Given the description of an element on the screen output the (x, y) to click on. 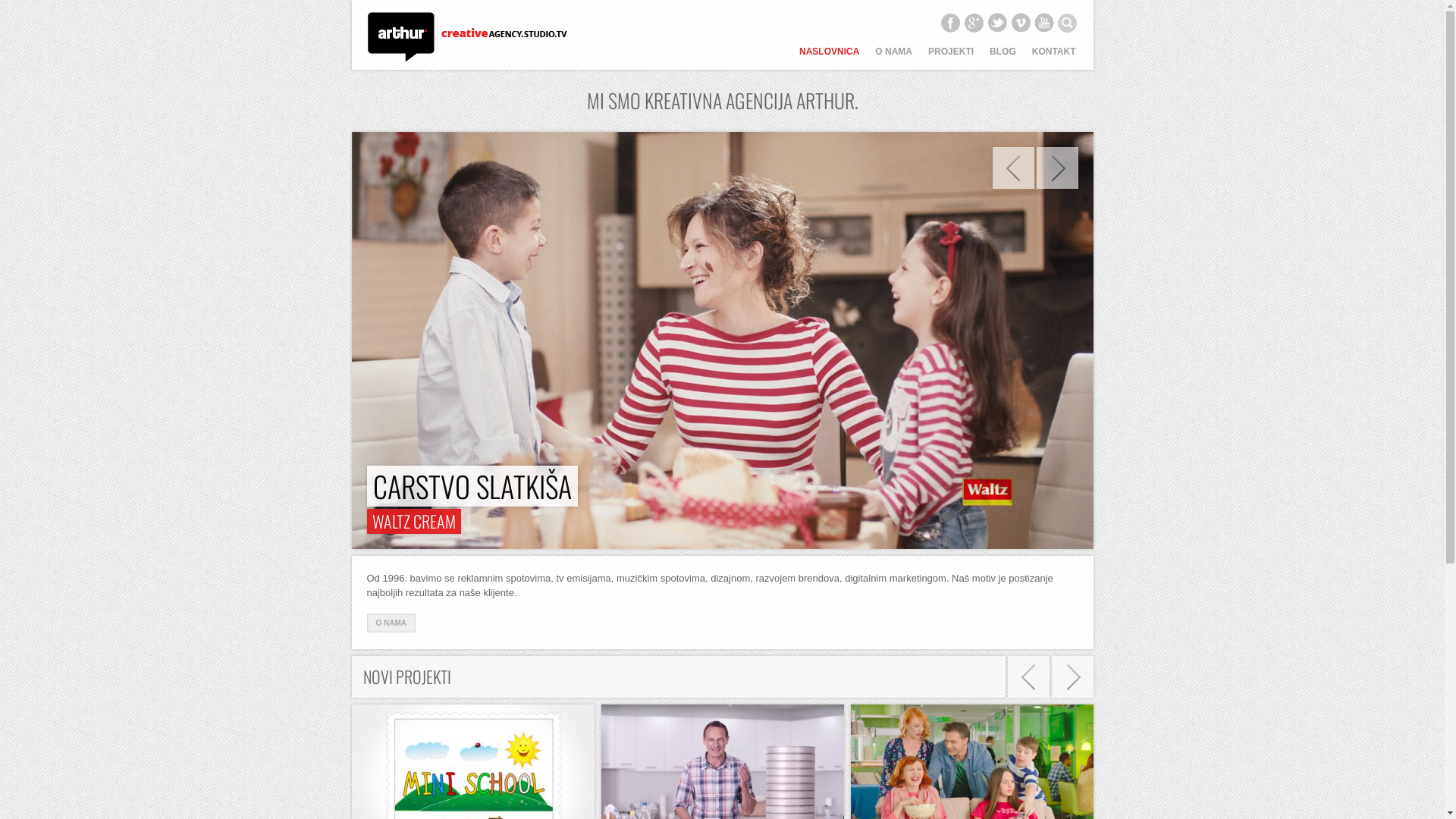
PROJEKTI Element type: text (950, 56)
Google+ Element type: text (972, 22)
arthur Element type: hover (466, 38)
BLOG Element type: text (1002, 56)
YouTube Element type: text (1044, 22)
NASLOVNICA Element type: text (829, 56)
KONTAKT Element type: text (1053, 56)
Twitter Element type: text (997, 22)
O NAMA Element type: text (893, 56)
Prev Element type: text (1012, 167)
Next Element type: text (1056, 167)
Vimeo Element type: text (1019, 22)
O NAMA Element type: text (391, 622)
Facebook Element type: text (950, 22)
